Given the description of an element on the screen output the (x, y) to click on. 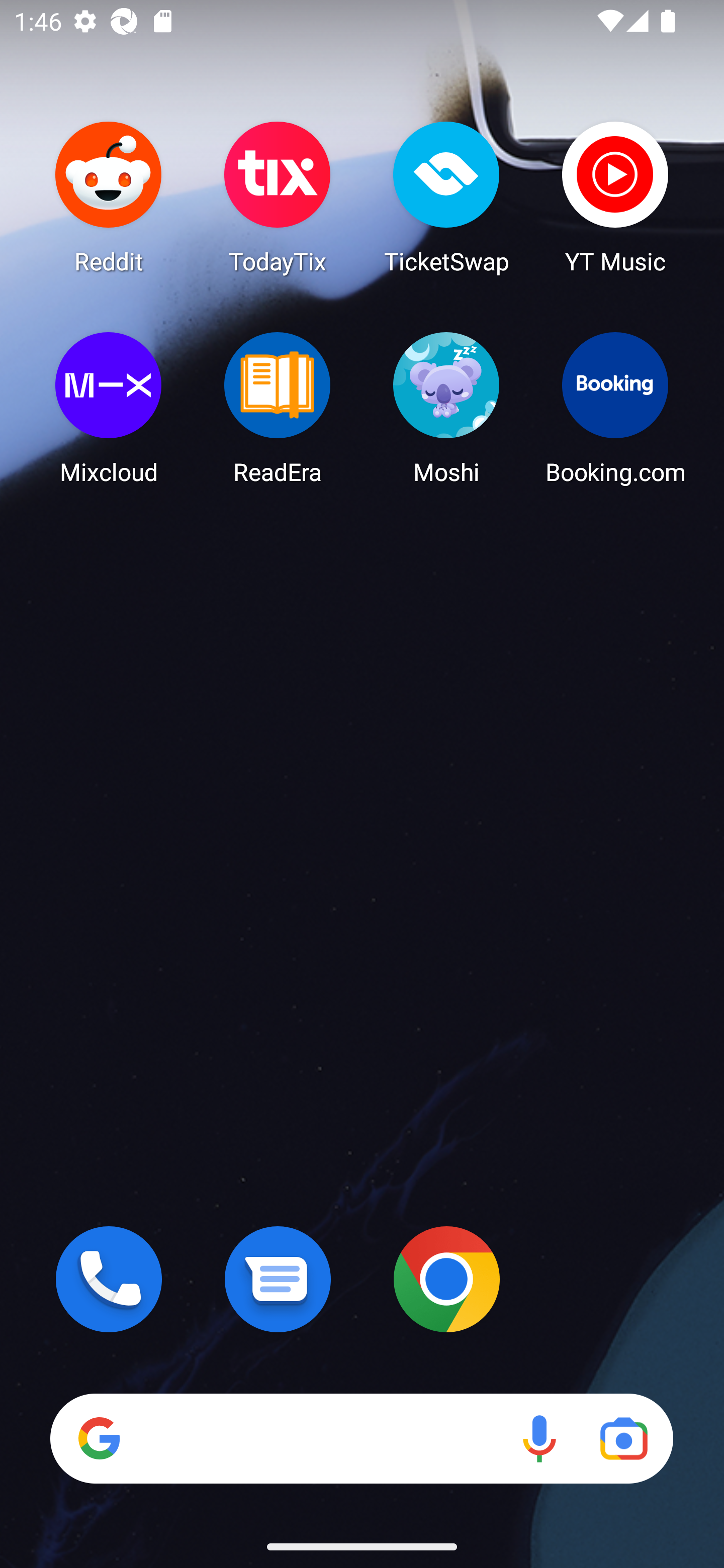
Reddit (108, 196)
TodayTix (277, 196)
TicketSwap (445, 196)
YT Music (615, 196)
Mixcloud (108, 407)
ReadEra (277, 407)
Moshi (445, 407)
Booking.com (615, 407)
Phone (108, 1279)
Messages (277, 1279)
Chrome (446, 1279)
Search Voice search Google Lens (361, 1438)
Voice search (539, 1438)
Google Lens (623, 1438)
